Given the description of an element on the screen output the (x, y) to click on. 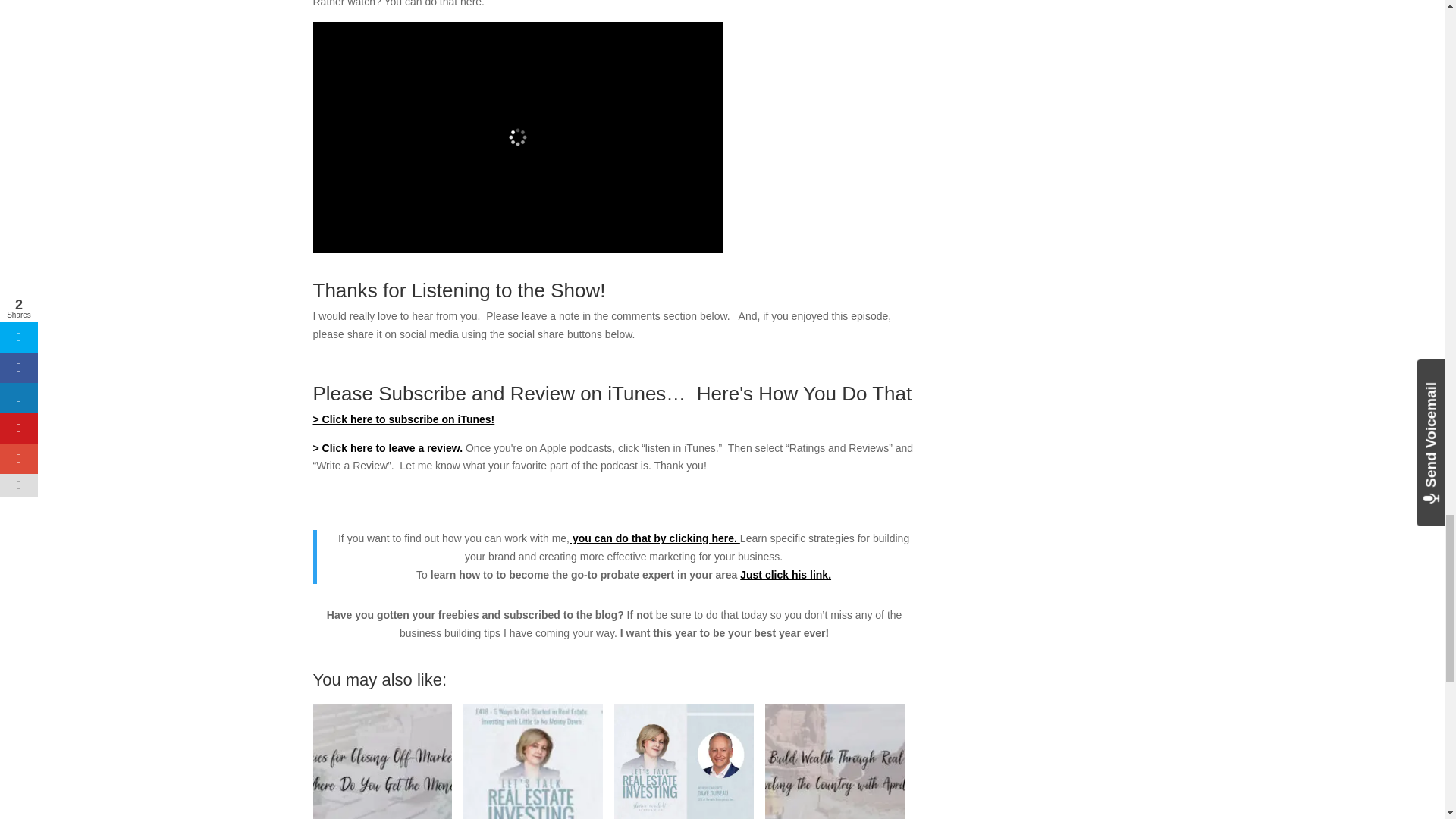
you can do that by clicking here. (654, 538)
Just click his link. (785, 574)
